Given the description of an element on the screen output the (x, y) to click on. 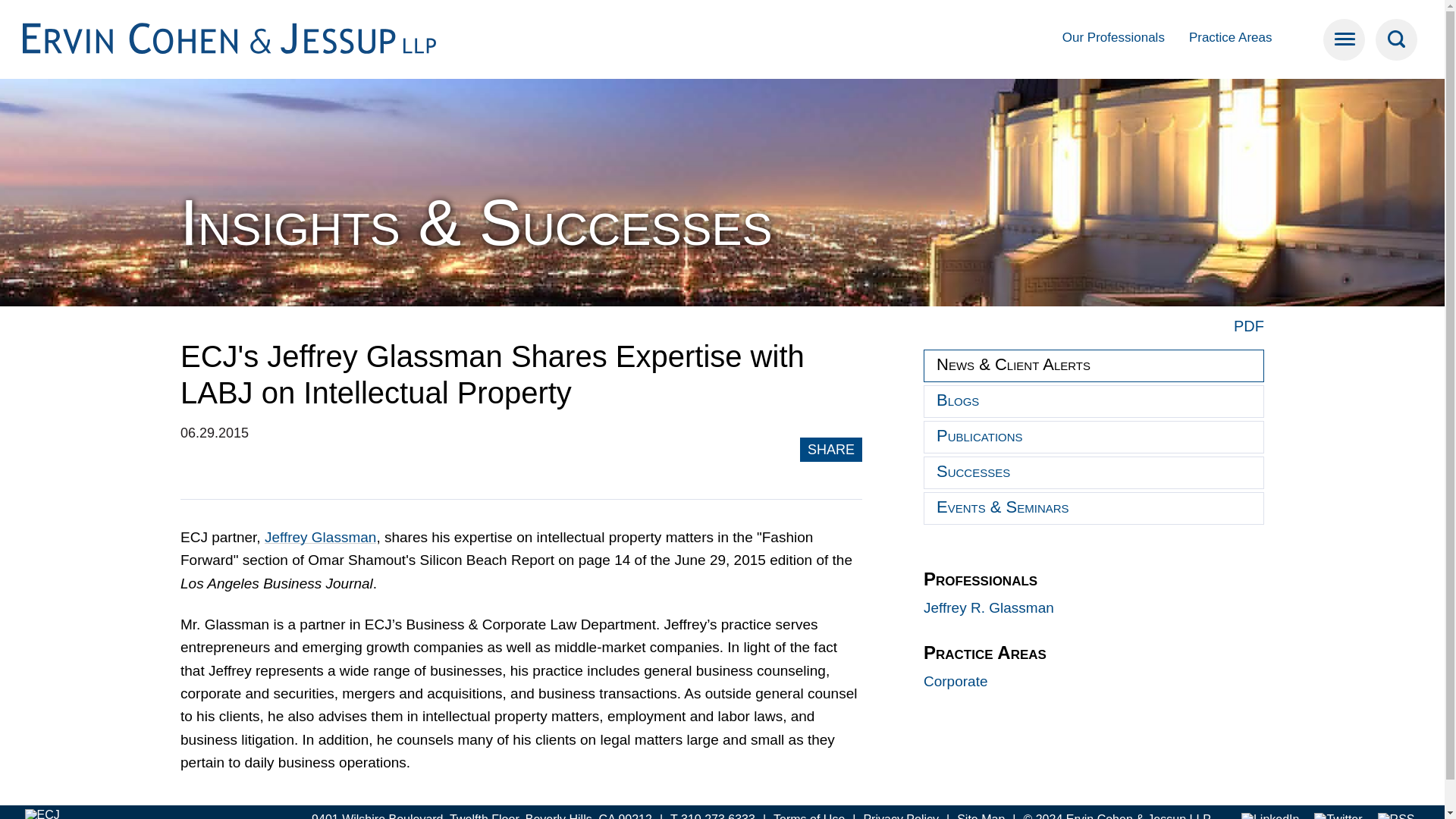
SHARE (831, 449)
Successes (1093, 472)
Publications (1093, 436)
T 310.273.6333 (712, 816)
Practice Areas (1230, 37)
PDF (1248, 325)
Terms of Use (808, 816)
Jeffrey Glassman (319, 537)
Blogs (1093, 400)
Our Professionals (1113, 37)
